Given the description of an element on the screen output the (x, y) to click on. 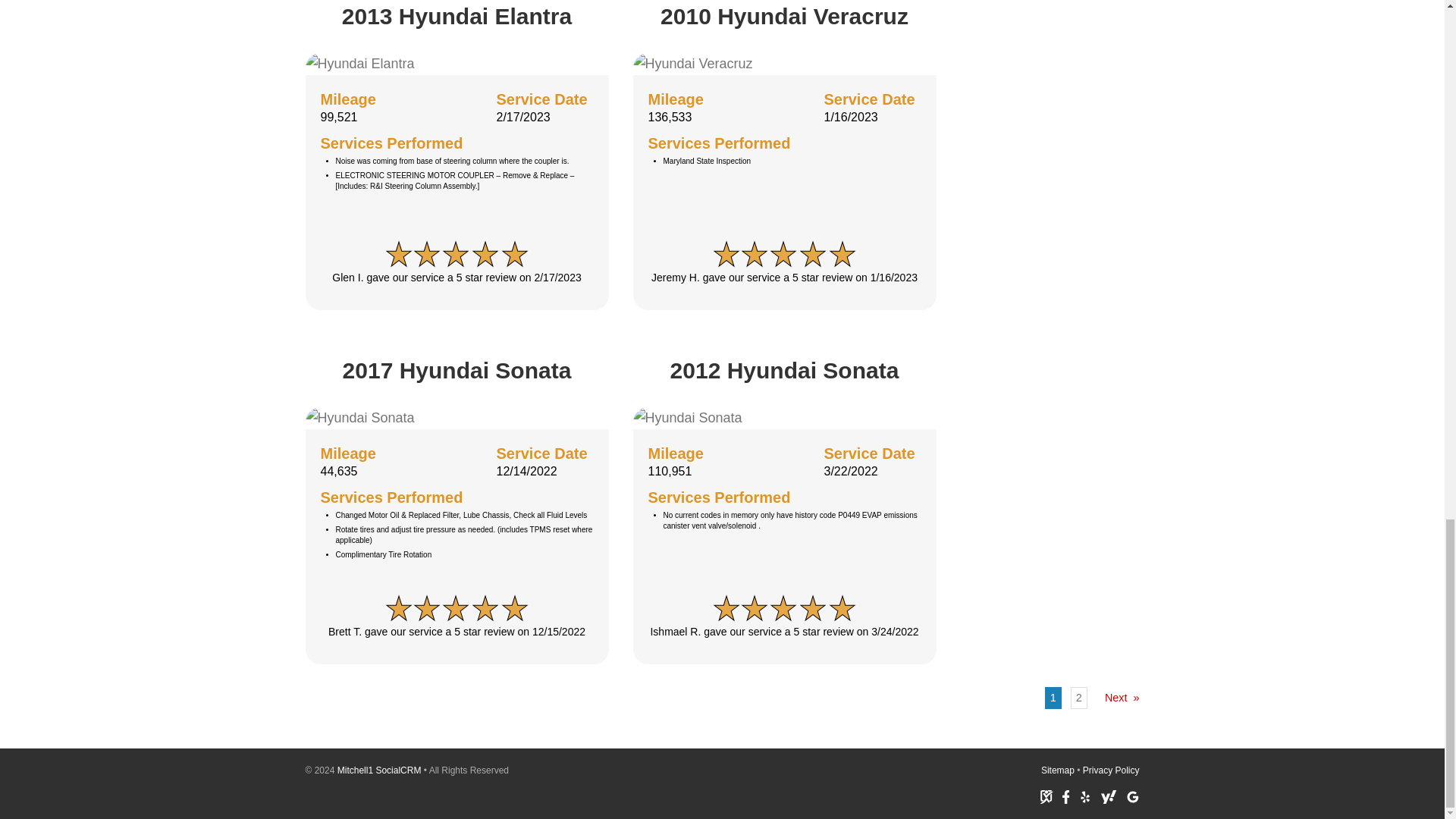
Yahoo (1108, 796)
Mitchell1 SocialCRM (379, 769)
Yelp (1085, 796)
SureCritic (1046, 796)
